Given the description of an element on the screen output the (x, y) to click on. 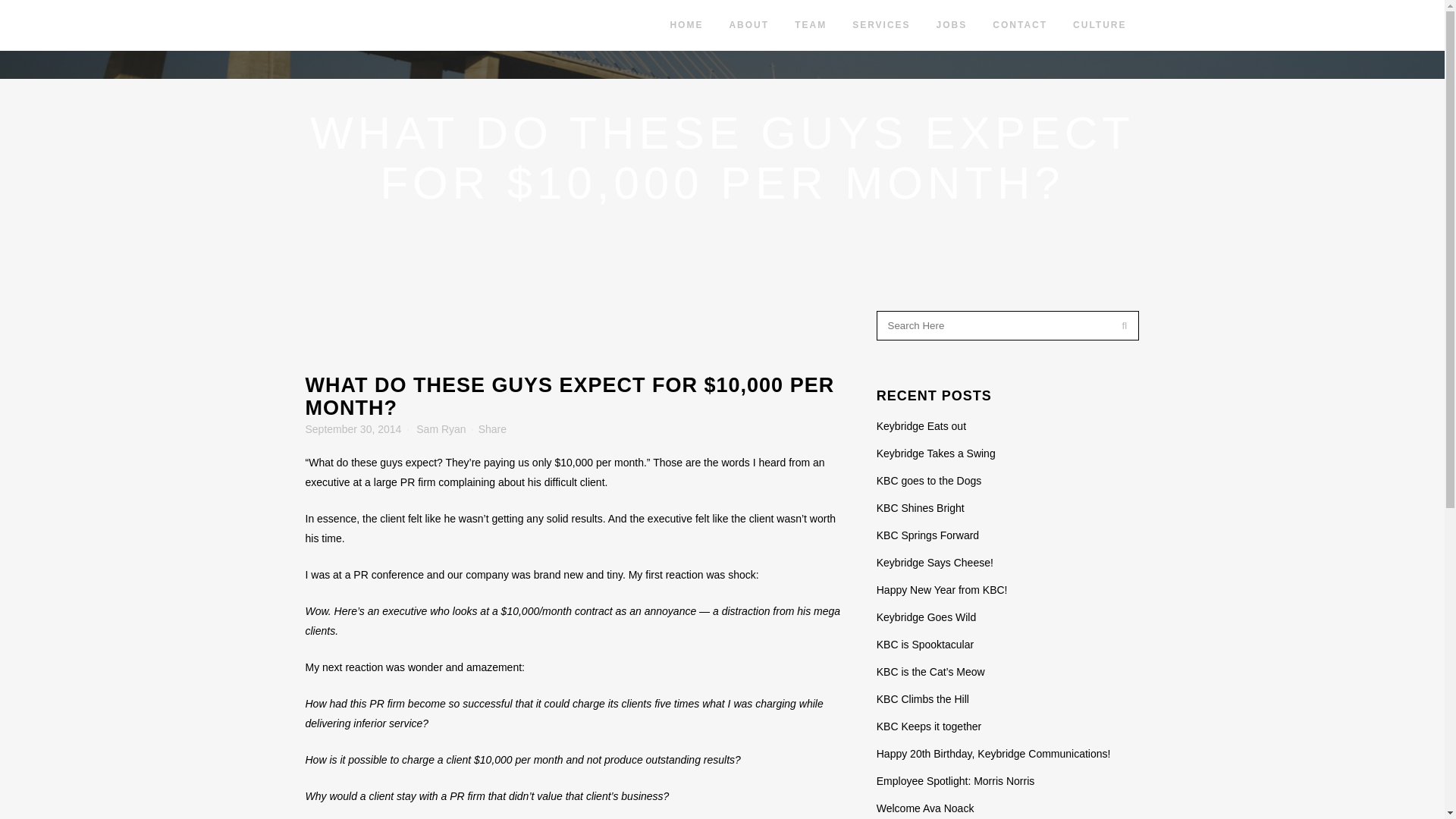
ABOUT (748, 25)
KBC goes to the Dogs (928, 480)
JOBS (951, 25)
KBC is Spooktacular (925, 644)
HOME (686, 25)
CULTURE (1098, 25)
Share (492, 428)
KBC Shines Bright (919, 508)
CONTACT (1019, 25)
Sam Ryan (440, 428)
Happy New Year from KBC! (941, 589)
Keybridge Goes Wild (926, 616)
KBC Springs Forward (927, 535)
Keybridge Takes a Swing (935, 453)
Keybridge Says Cheese! (934, 562)
